Given the description of an element on the screen output the (x, y) to click on. 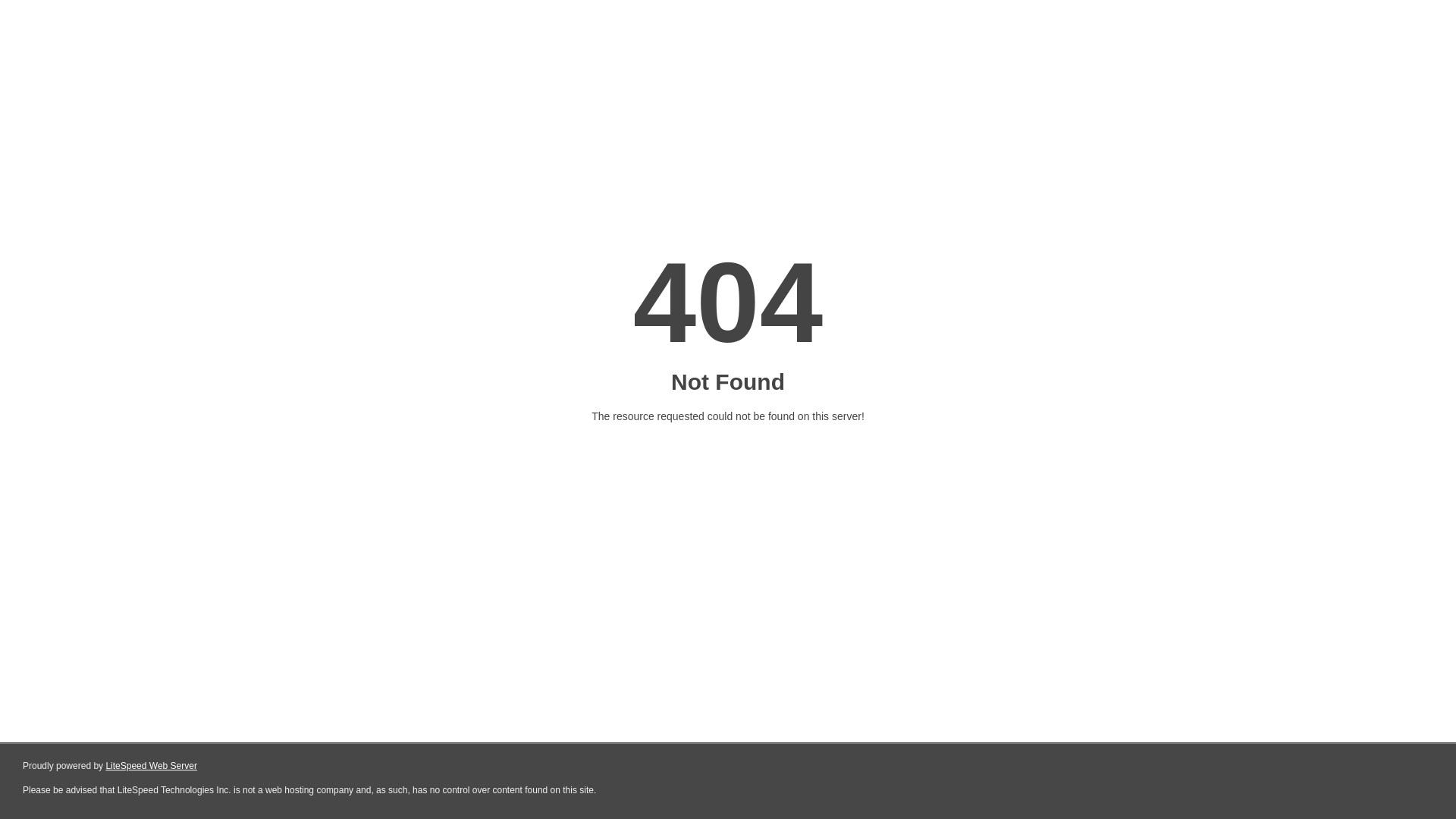
LiteSpeed Web Server Element type: text (151, 765)
